Given the description of an element on the screen output the (x, y) to click on. 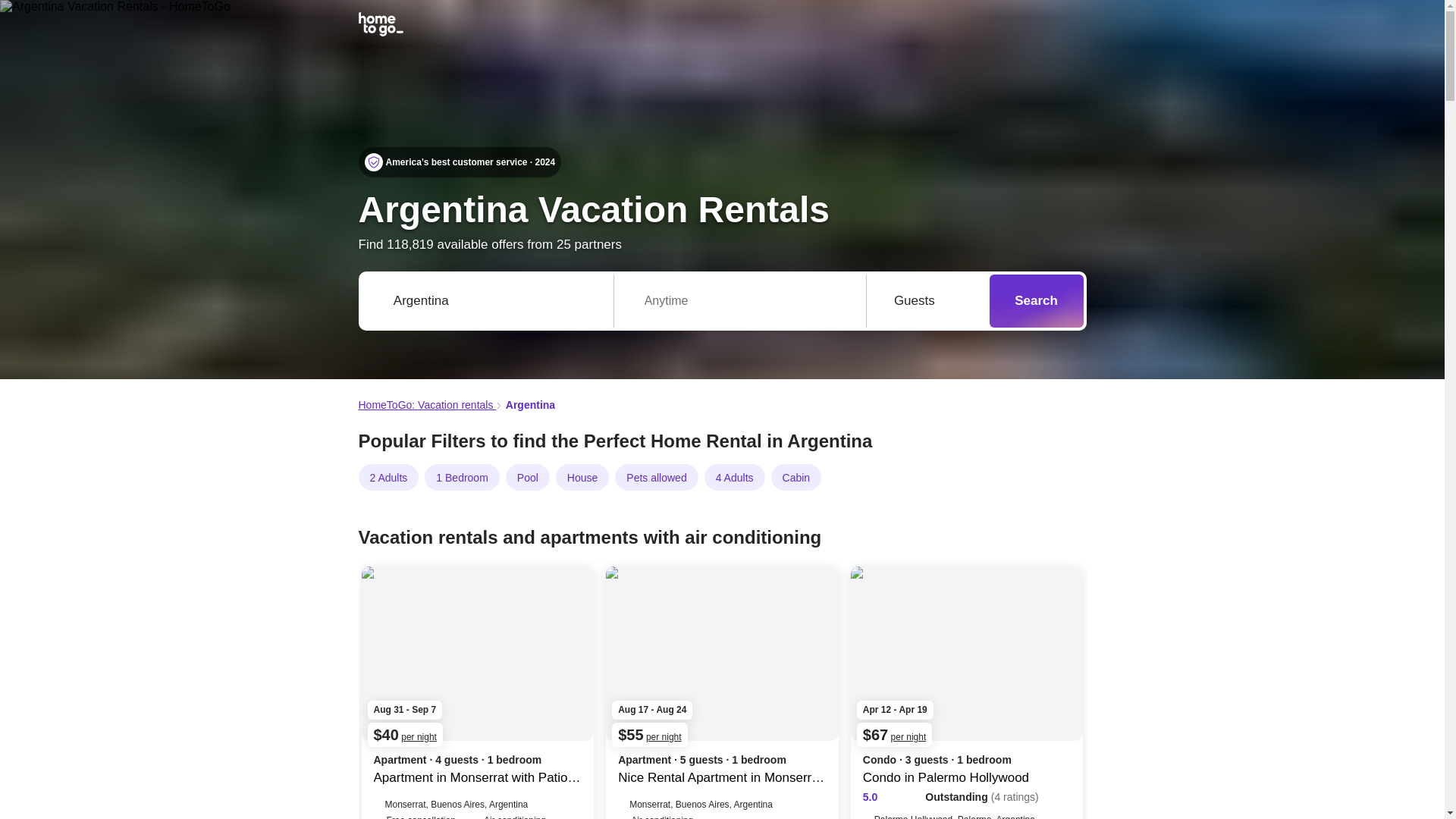
HomeToGo: Vacation rentals (427, 404)
HomeToGo: Vacation rentals (427, 404)
Search (1036, 300)
